Given the description of an element on the screen output the (x, y) to click on. 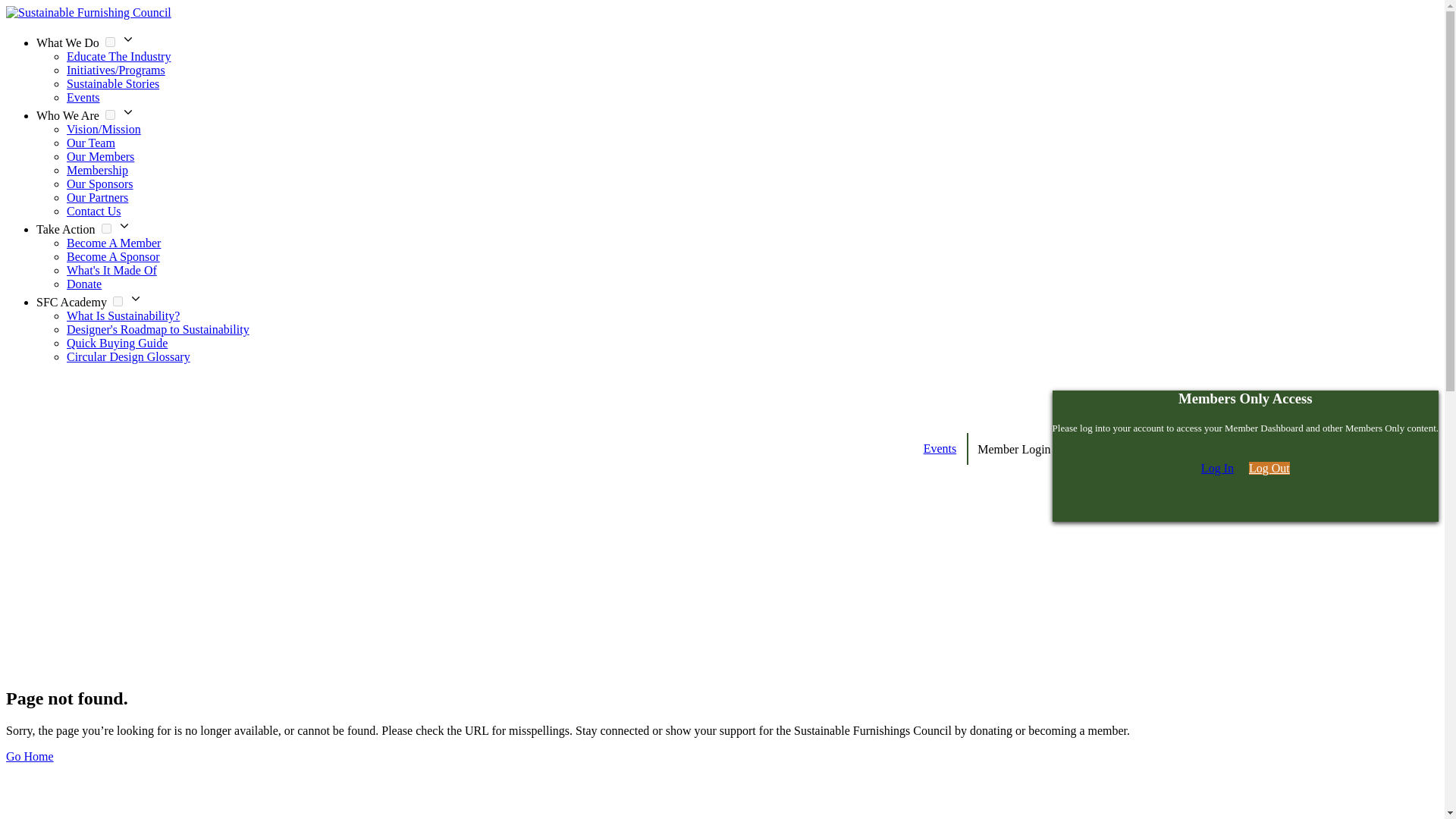
on (106, 228)
Become A Member (113, 242)
on (109, 41)
Educate The Industry (118, 56)
Sustainable Stories (112, 83)
Events (83, 97)
Our Team (90, 142)
Go Home (29, 756)
What Is Sustainability? (122, 315)
SFC Academy (71, 301)
Designer's Roadmap to Sustainability (157, 328)
Log Out (1269, 468)
Member Login (1012, 449)
on (109, 114)
Sustainable Furnishing Council (88, 12)
